Given the description of an element on the screen output the (x, y) to click on. 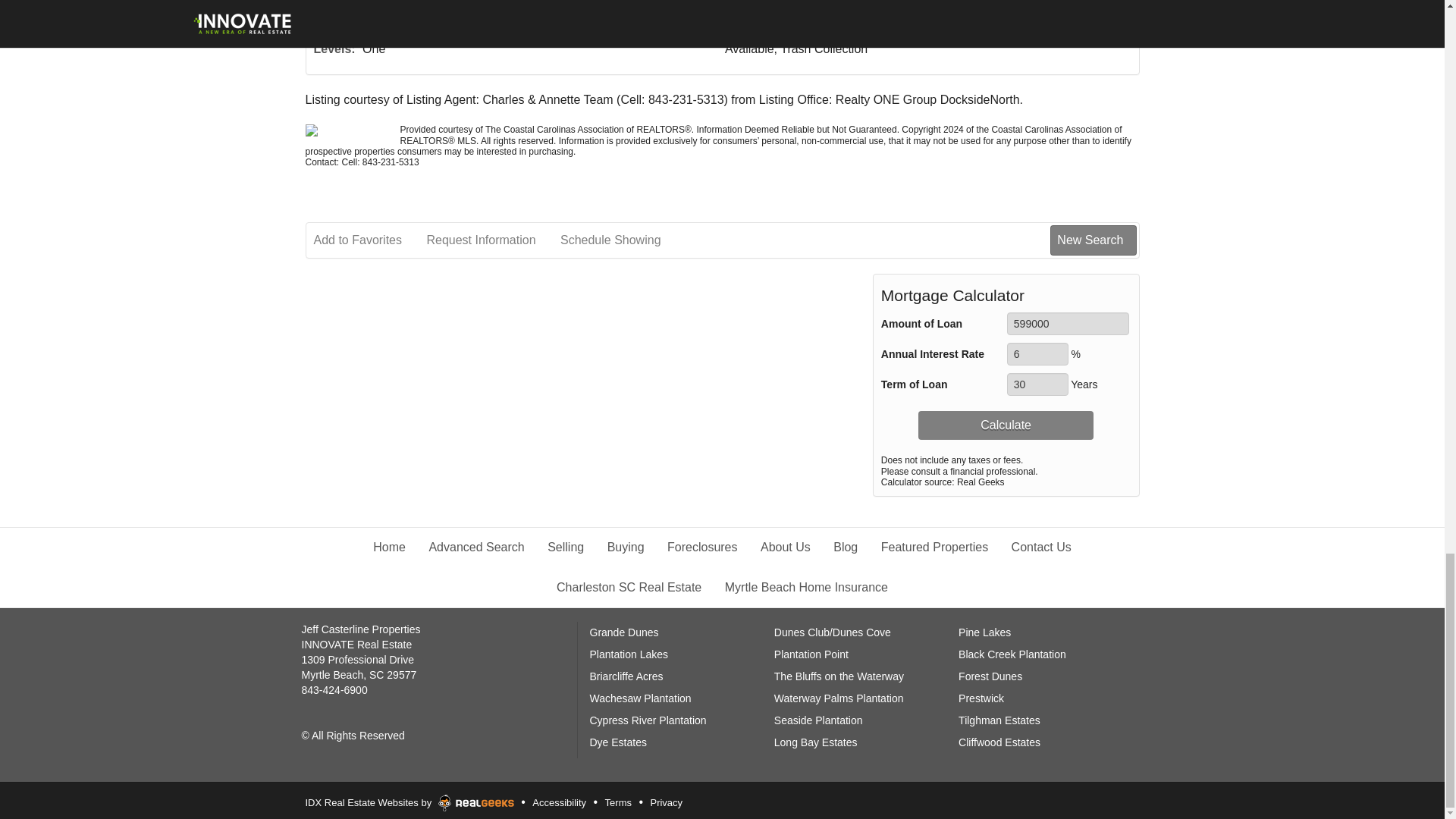
599000 (1068, 323)
30 (1037, 384)
6 (1037, 354)
